Given the description of an element on the screen output the (x, y) to click on. 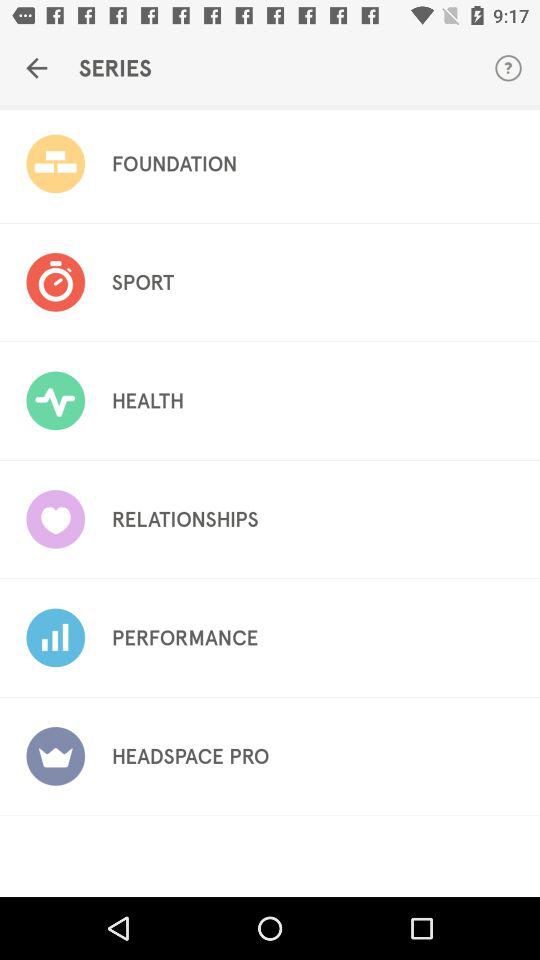
choose item at the top right corner (508, 67)
